Given the description of an element on the screen output the (x, y) to click on. 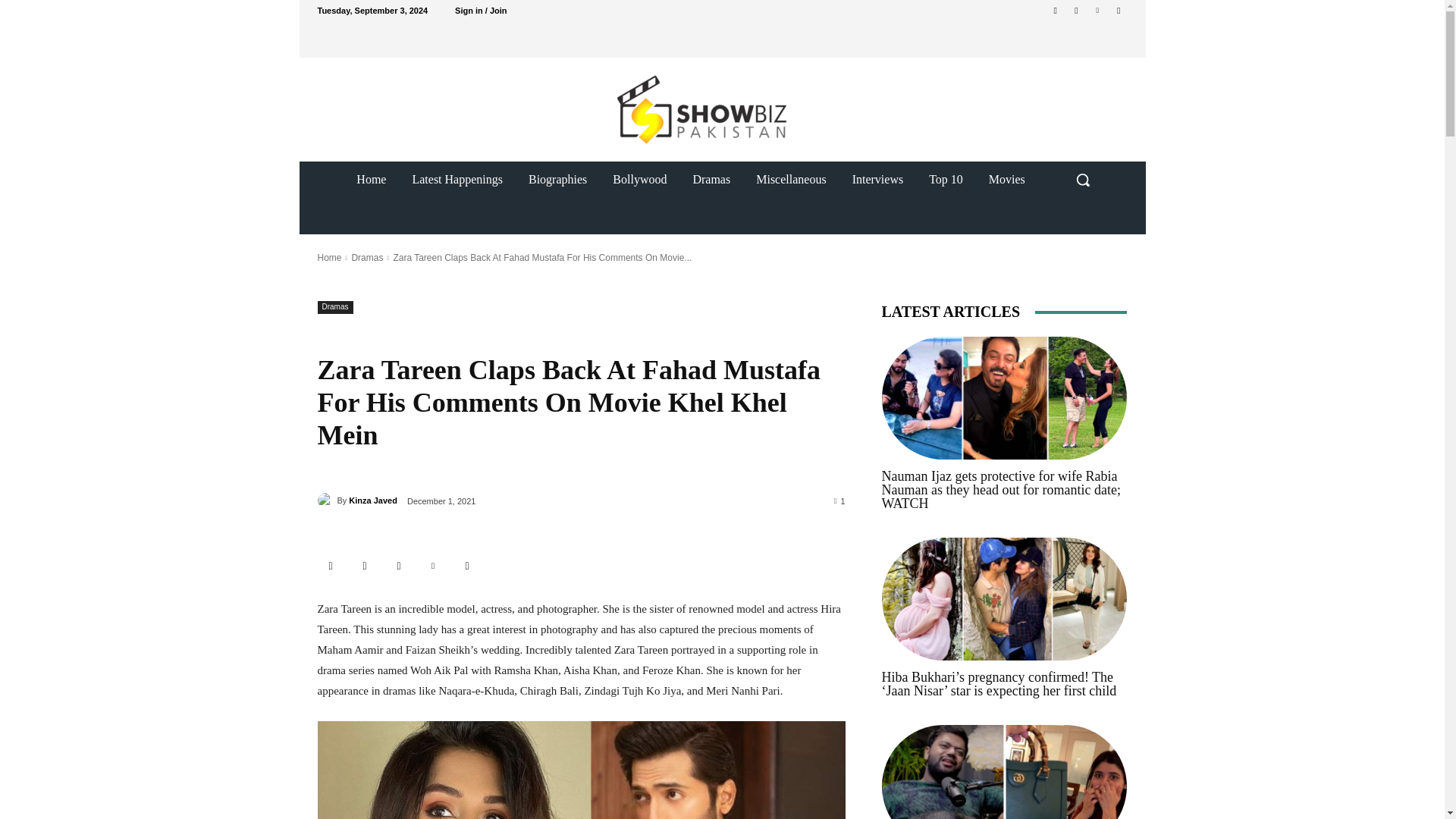
Bollywood (639, 179)
Biographies (557, 179)
1 (839, 500)
Facebook (1055, 9)
Dramas (334, 307)
Kinza Javed (326, 500)
Pinterest (1097, 9)
Home (328, 257)
Youtube (1117, 9)
Top 10 (945, 179)
